Given the description of an element on the screen output the (x, y) to click on. 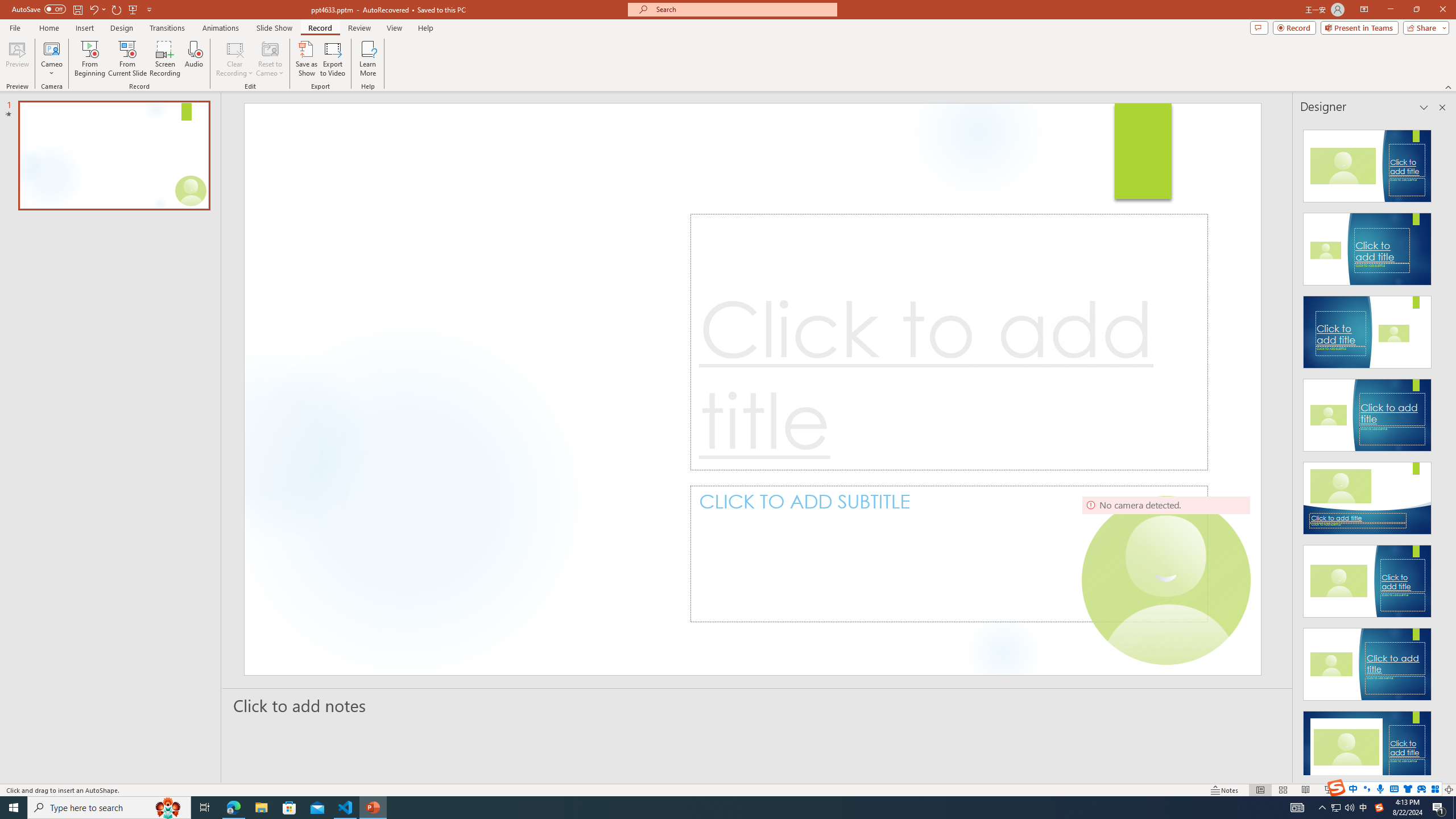
Audio (193, 58)
